Given the description of an element on the screen output the (x, y) to click on. 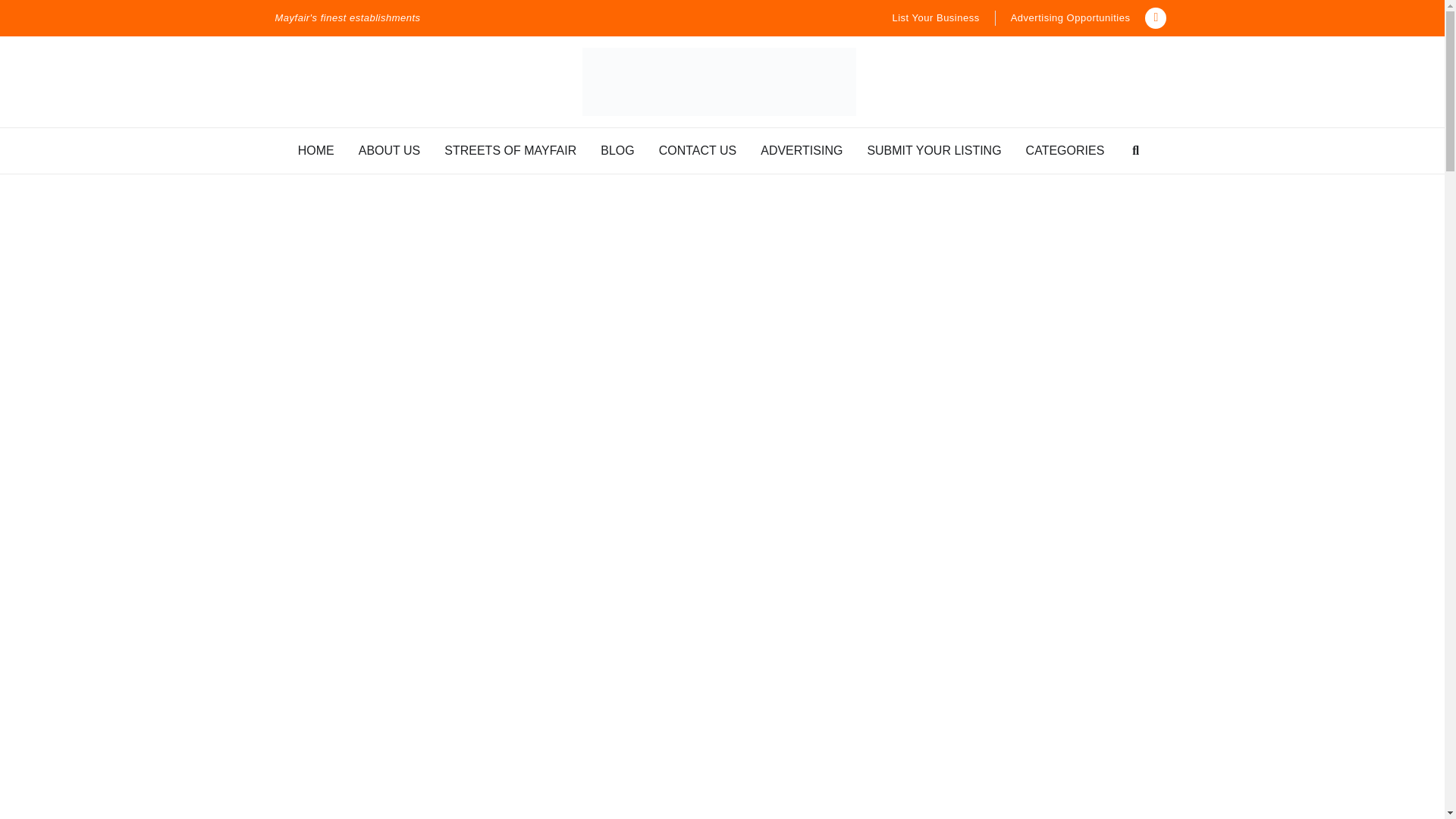
ADVERTISING (801, 150)
SUBMIT YOUR LISTING (933, 150)
STREETS OF MAYFAIR (510, 150)
Advertising Opportunities (1070, 17)
List Your Business (934, 17)
BLOG (616, 150)
ABOUT US (389, 150)
CONTACT US (697, 150)
HOME (316, 150)
